Given the description of an element on the screen output the (x, y) to click on. 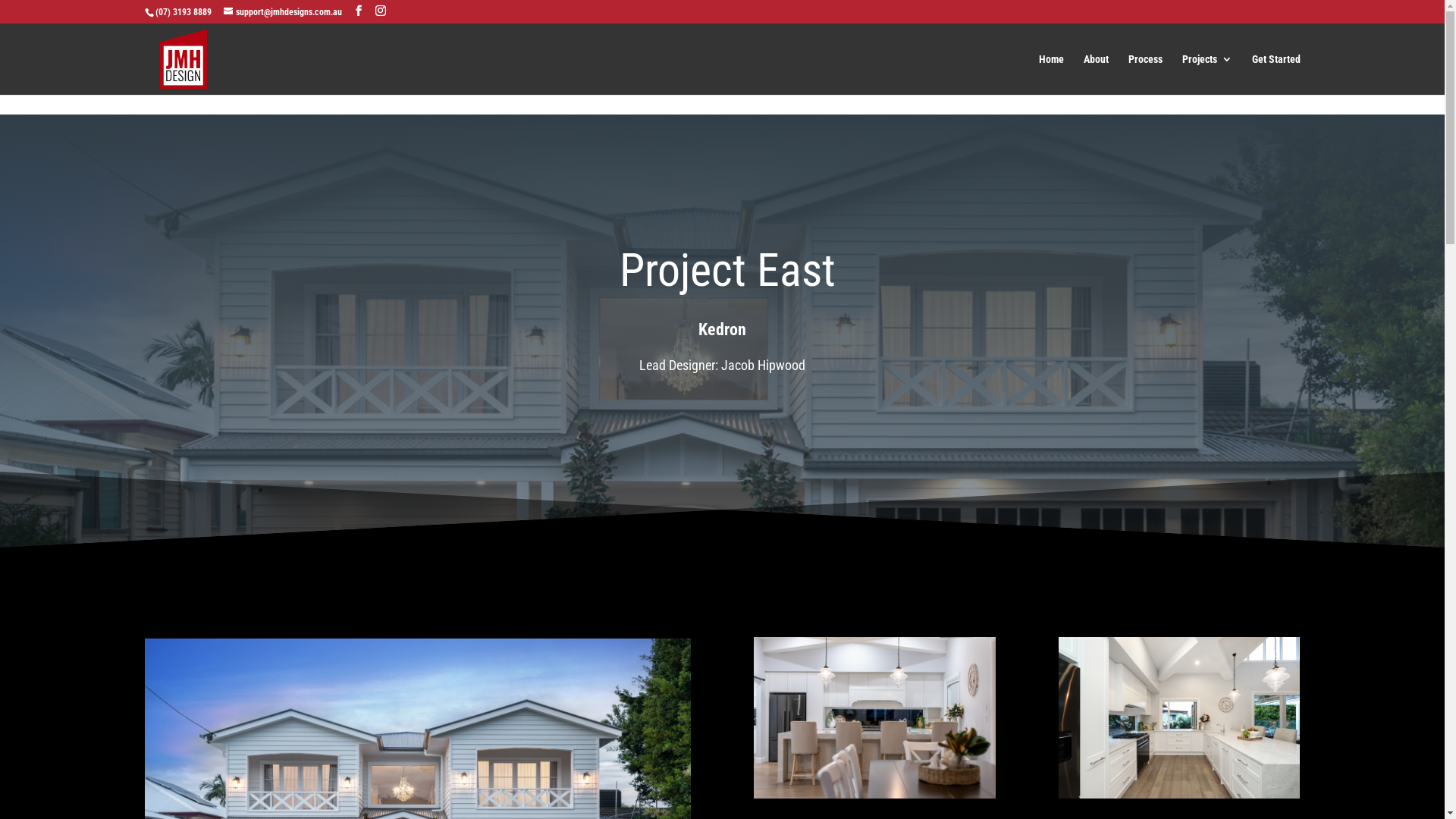
Process Element type: text (1145, 73)
7 East-13 Element type: hover (1178, 717)
Home Element type: text (1050, 73)
About Element type: text (1094, 73)
Projects Element type: text (1206, 73)
7 East-35 Element type: hover (873, 717)
support@jmhdesigns.com.au Element type: text (281, 11)
Get Started Element type: text (1275, 73)
